Given the description of an element on the screen output the (x, y) to click on. 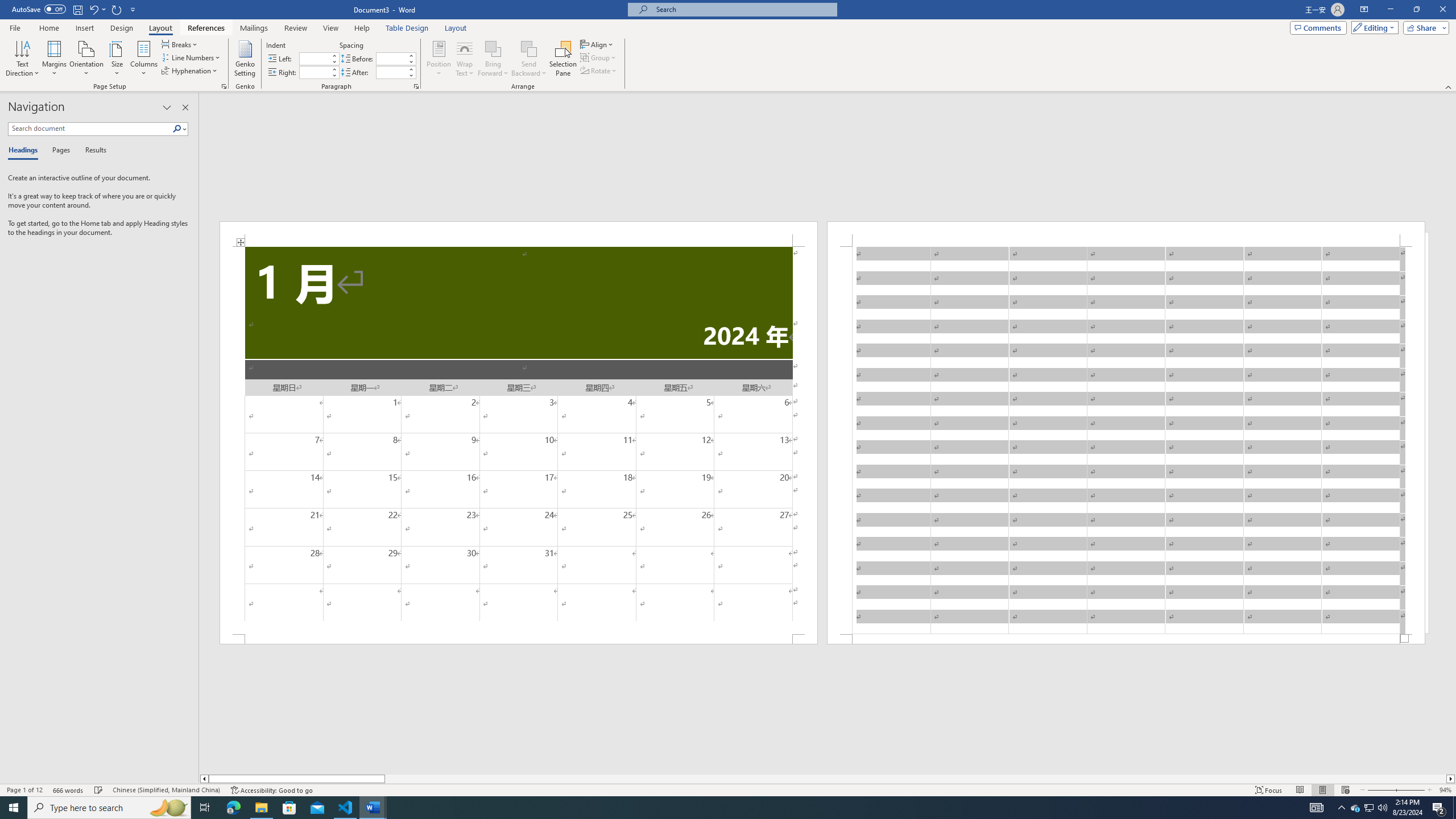
Position (438, 58)
Spacing After (391, 72)
Footer -Section 1- (1126, 638)
Share (1423, 27)
Table Design (407, 28)
Read Mode (1299, 790)
Insert (83, 28)
View (330, 28)
Design (122, 28)
Microsoft search (742, 9)
Class: NetUIImage (177, 128)
Align (597, 44)
Review (295, 28)
